Given the description of an element on the screen output the (x, y) to click on. 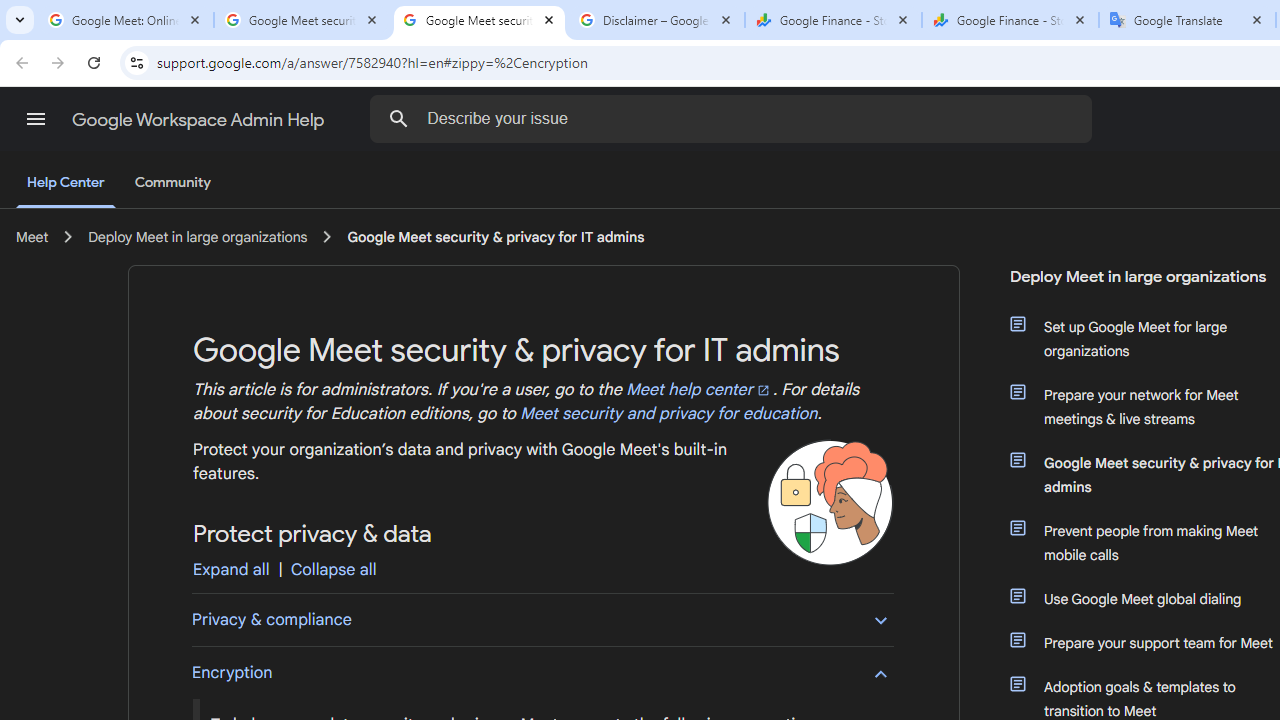
Meet help center (699, 390)
Meet  (31, 237)
Deploy Meet in large organizations (198, 237)
Encryption (542, 672)
Privacy & compliance (542, 619)
Search Help Center (399, 118)
Community (171, 183)
Meet security and privacy for education (668, 413)
